Given the description of an element on the screen output the (x, y) to click on. 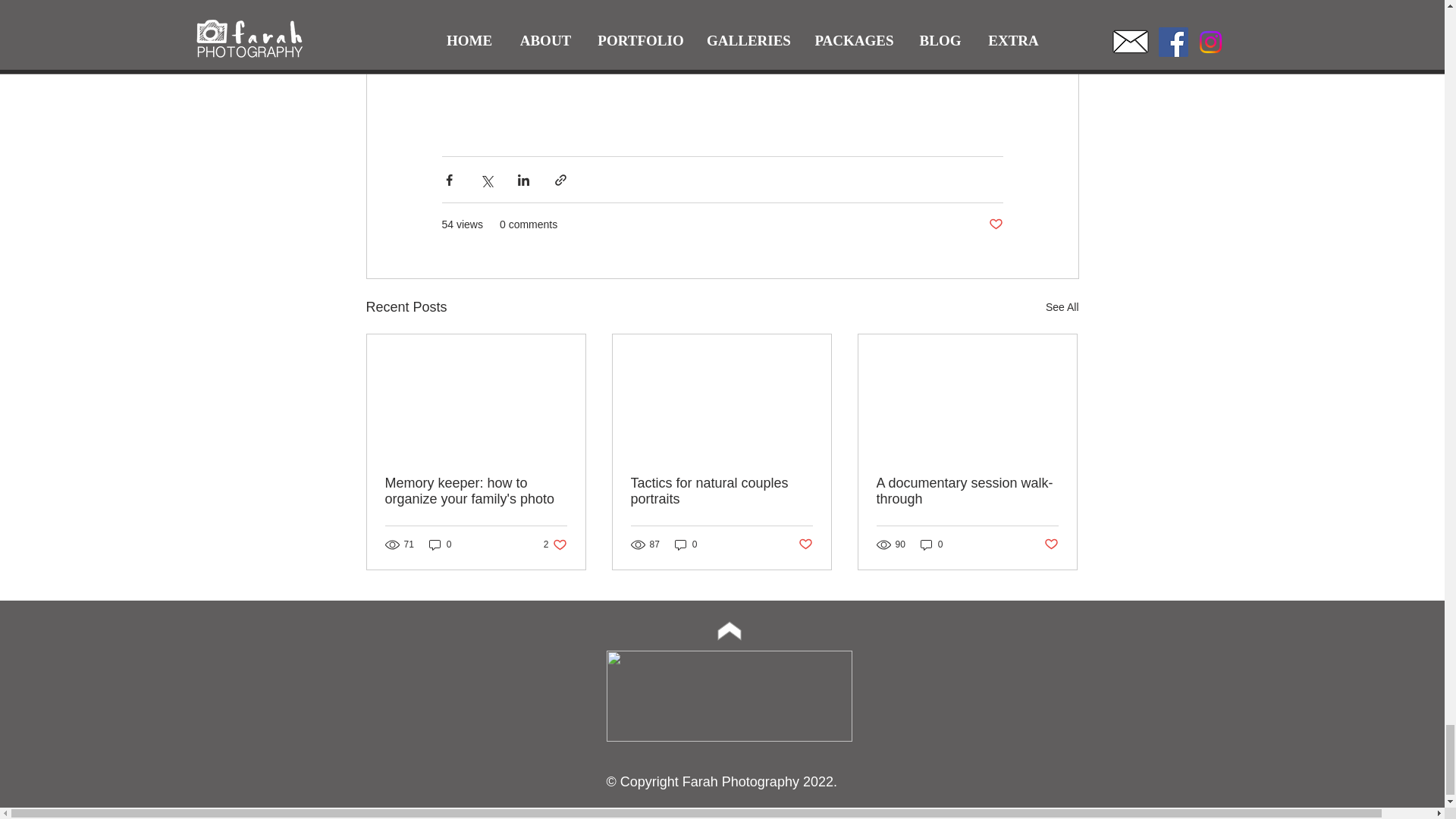
0 (440, 544)
0 (931, 544)
Post not marked as liked (804, 544)
A documentary session walk-through (967, 490)
0 (685, 544)
Post not marked as liked (555, 544)
See All (1050, 544)
Memory keeper: how to organize your family's photo (1061, 307)
Tactics for natural couples portraits (476, 490)
Post not marked as liked (721, 490)
